Given the description of an element on the screen output the (x, y) to click on. 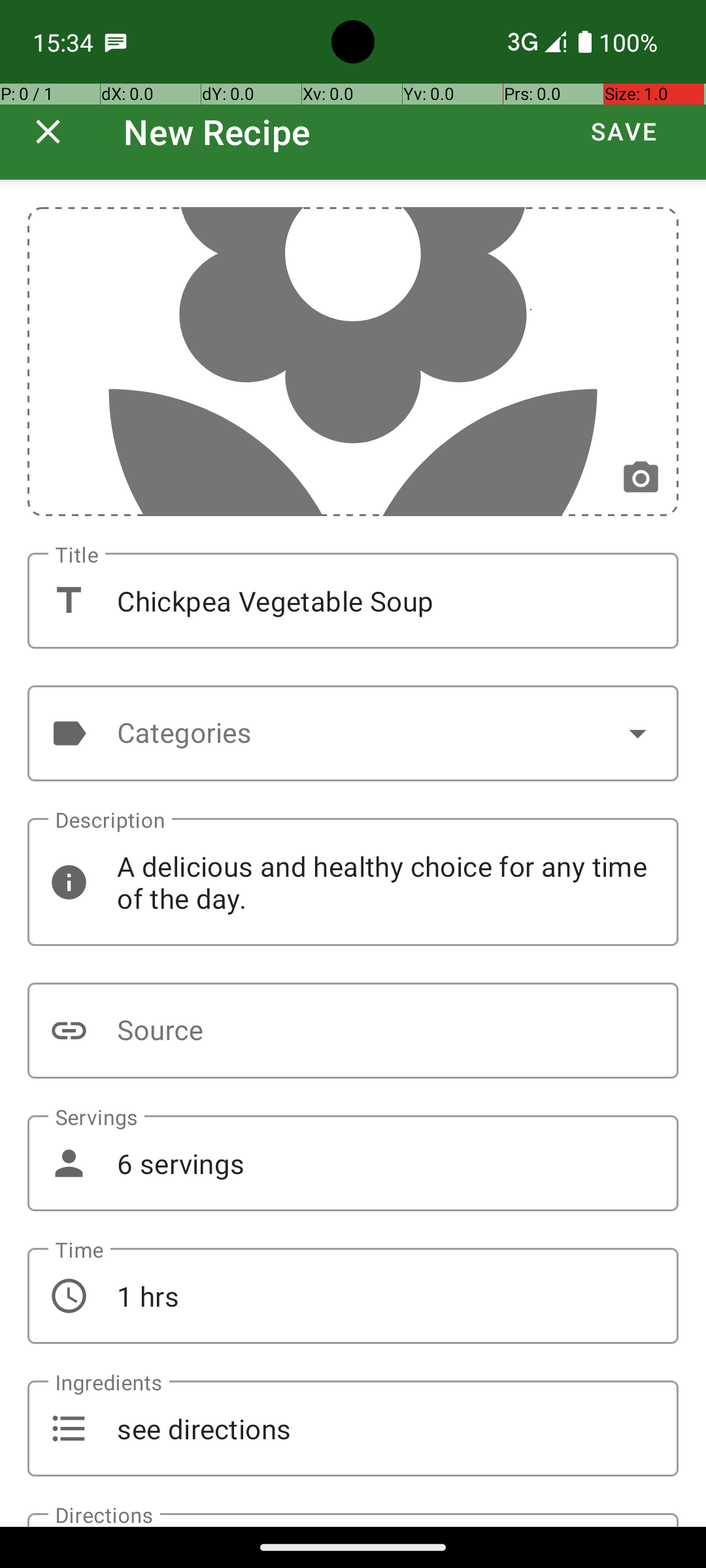
Change photo Element type: android.widget.ImageView (640, 478)
Source Element type: android.widget.EditText (352, 1030)
6 servings Element type: android.widget.EditText (352, 1163)
1 hrs Element type: android.widget.EditText (352, 1295)
see directions Element type: android.widget.EditText (352, 1428)
Sauté onions, carrots, and celery, add broth, canned tomatoes, and chickpeas. Simmer with spinach and seasonings. Feel free to substitute with ingredients you have on hand. Element type: android.widget.EditText (352, 1519)
